Given the description of an element on the screen output the (x, y) to click on. 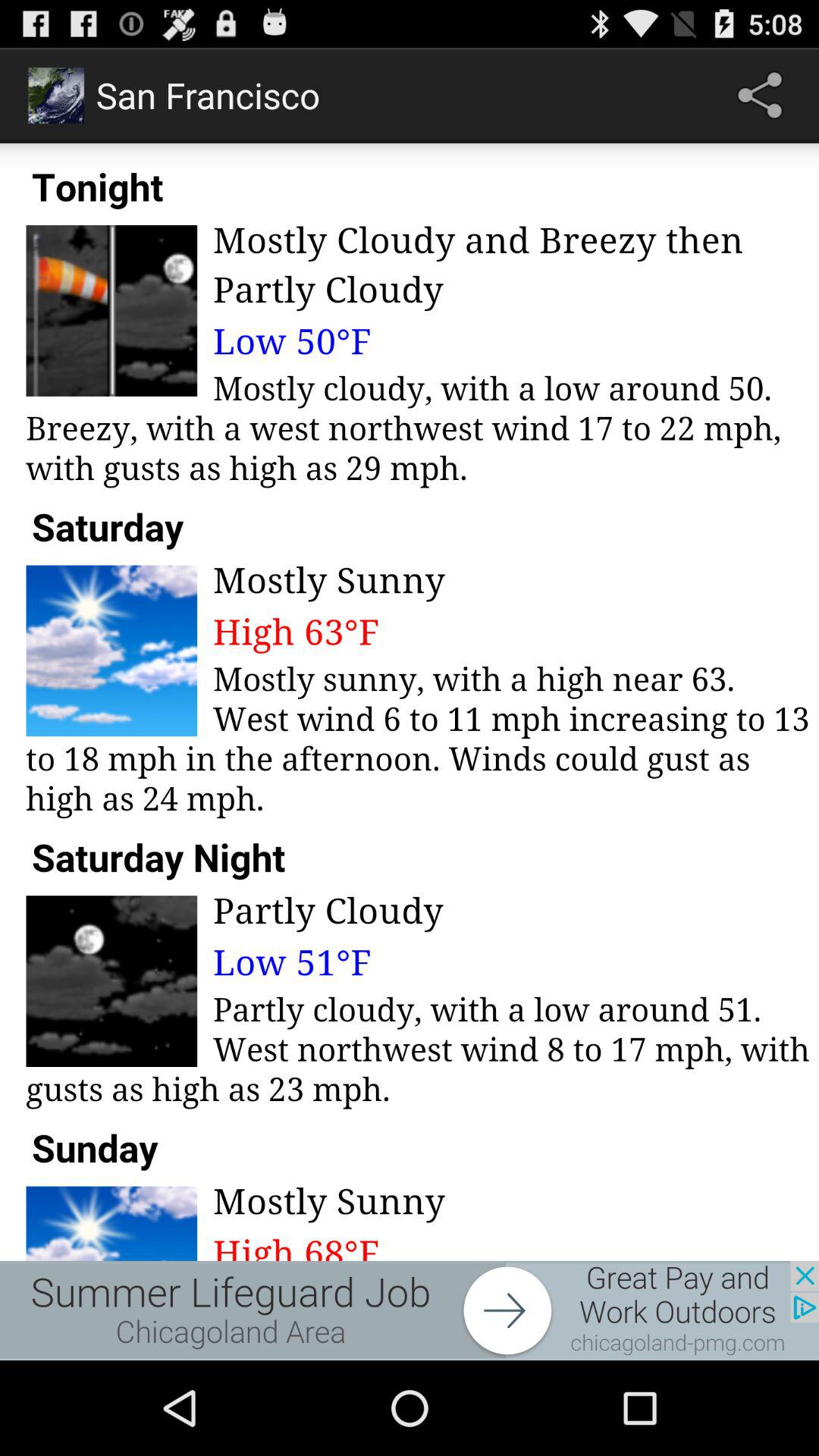
advertisement (409, 1310)
